Given the description of an element on the screen output the (x, y) to click on. 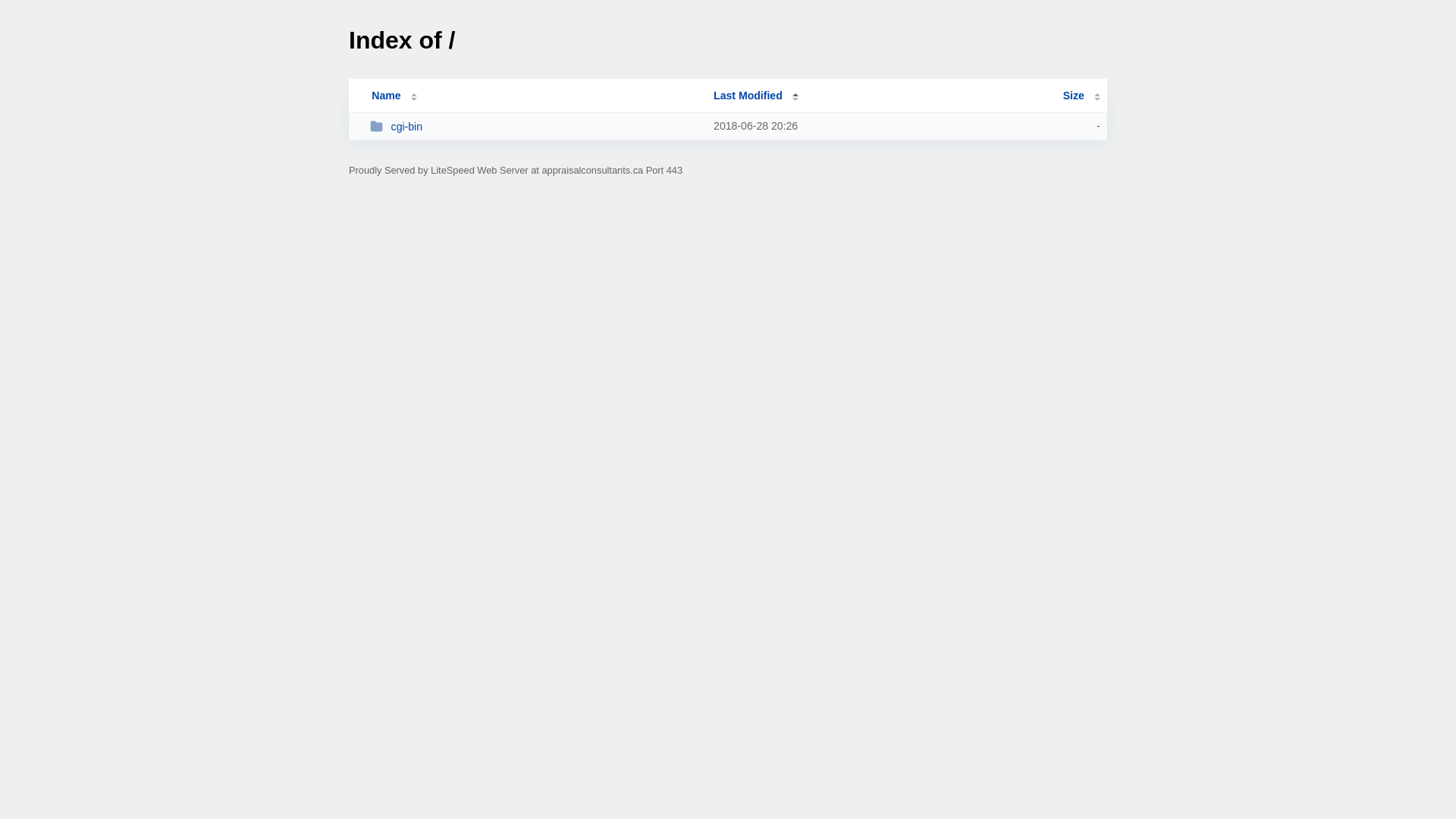
Last Modified Element type: text (755, 95)
Size Element type: text (1081, 95)
Name Element type: text (385, 95)
cgi-bin Element type: text (534, 125)
